Given the description of an element on the screen output the (x, y) to click on. 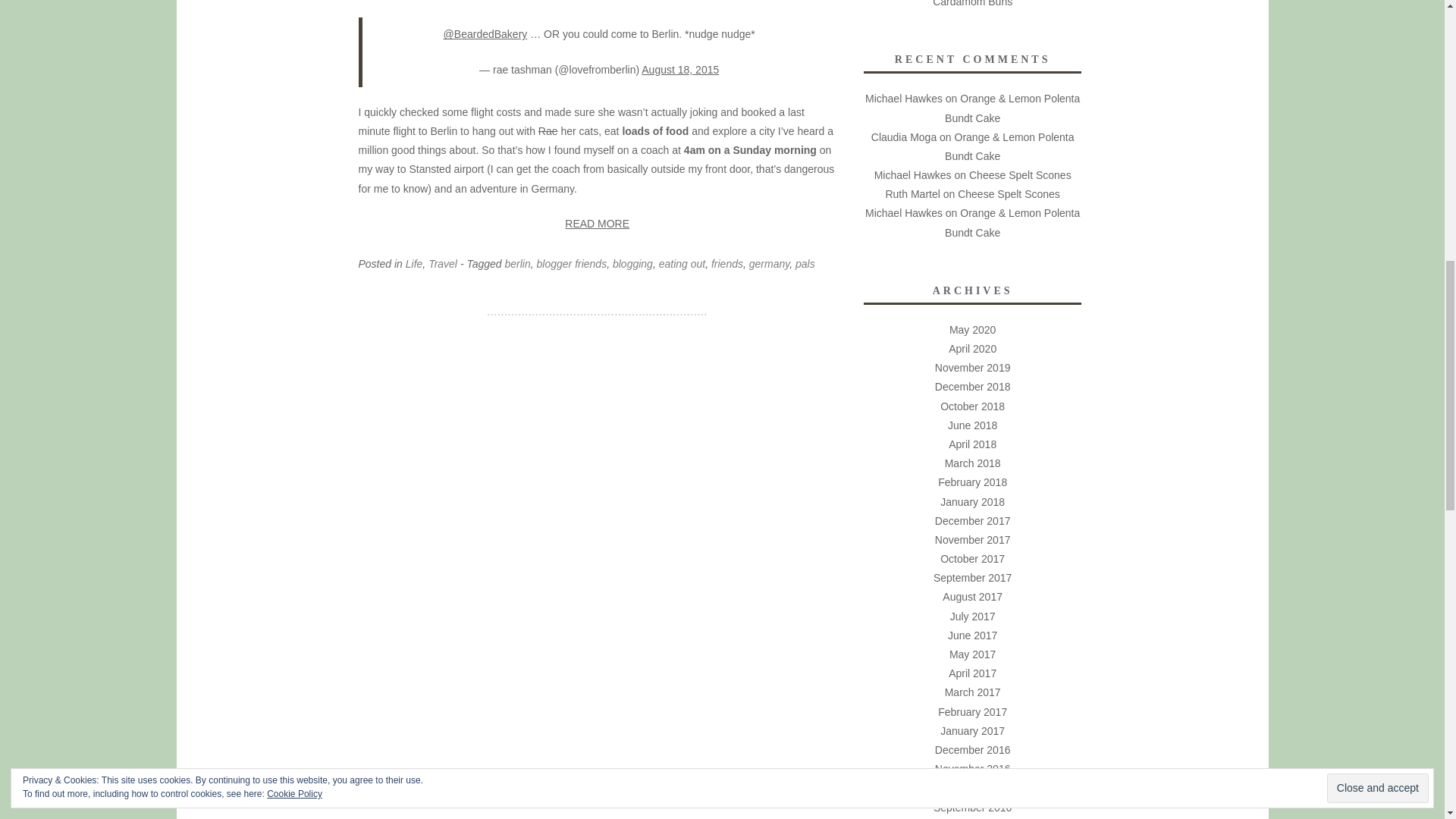
READ MORE (596, 223)
August 18, 2015 (680, 69)
pals (804, 263)
berlin (518, 263)
eating out (682, 263)
Life (414, 263)
Travel (442, 263)
blogger friends (572, 263)
friends (726, 263)
blogging (632, 263)
